Given the description of an element on the screen output the (x, y) to click on. 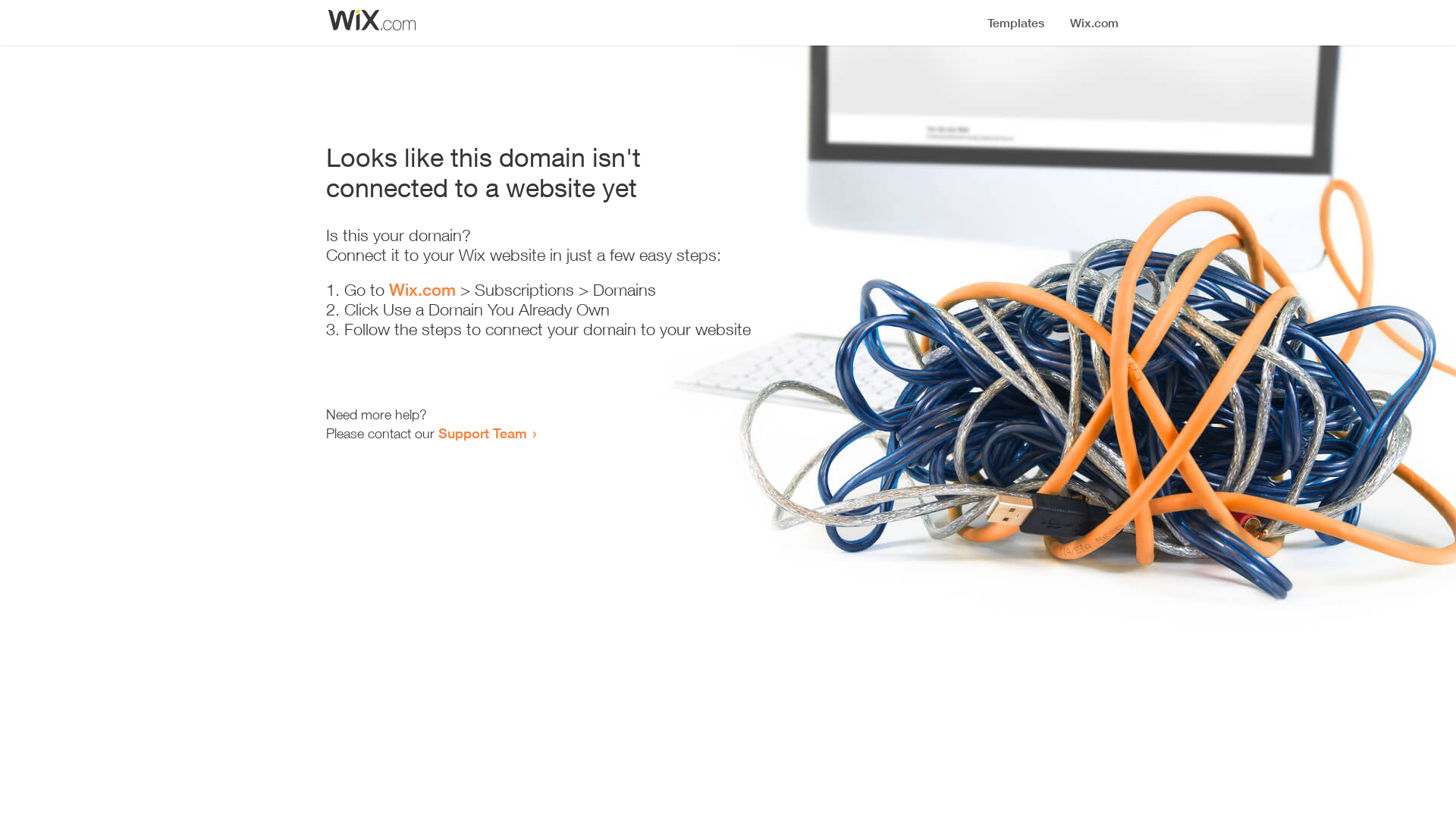
Wix.com Element type: text (422, 289)
Support Team Element type: text (482, 432)
